Given the description of an element on the screen output the (x, y) to click on. 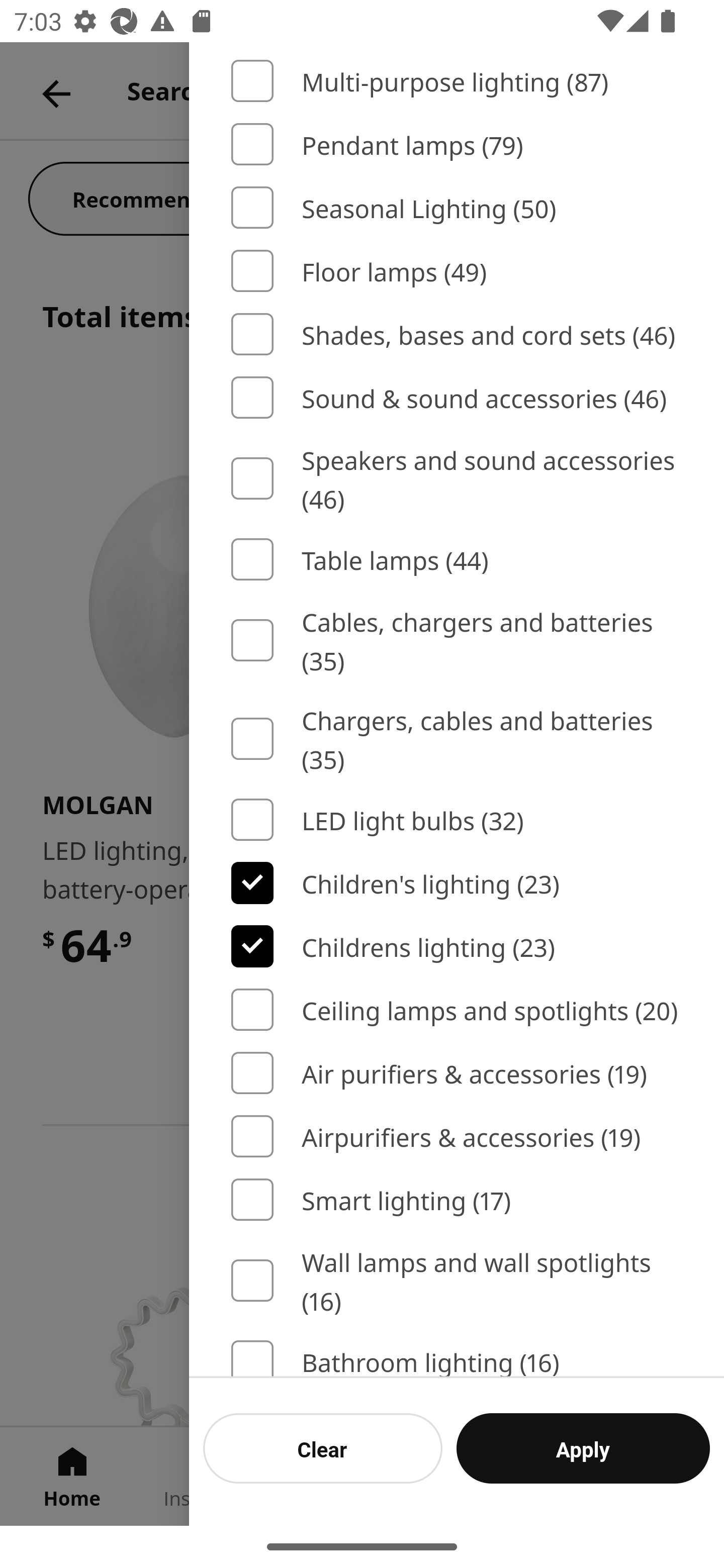
Multi-purpose lighting (87) (456, 80)
Pendant lamps (79) (456, 143)
Seasonal Lighting (50) (456, 207)
Floor lamps (49) (456, 270)
Shades, bases and cord sets (46) (456, 334)
Sound & sound accessories (46) (456, 397)
Speakers and sound accessories (46) (456, 478)
Table lamps (44) (456, 558)
Cables, chargers and batteries (35) (456, 640)
Chargers, cables and batteries (35) (456, 738)
LED light bulbs (32) (456, 819)
Children's lighting (23) (456, 883)
Childrens lighting (23) (456, 946)
Ceiling lamps and spotlights (20) (456, 1008)
Air purifiers & accessories (19) (456, 1073)
Airpurifiers & accessories (19) (456, 1135)
Smart lighting (17) (456, 1200)
Wall lamps and wall spotlights (16) (456, 1279)
Bathroom lighting (16) (456, 1358)
Clear (322, 1447)
Apply (583, 1447)
